Given the description of an element on the screen output the (x, y) to click on. 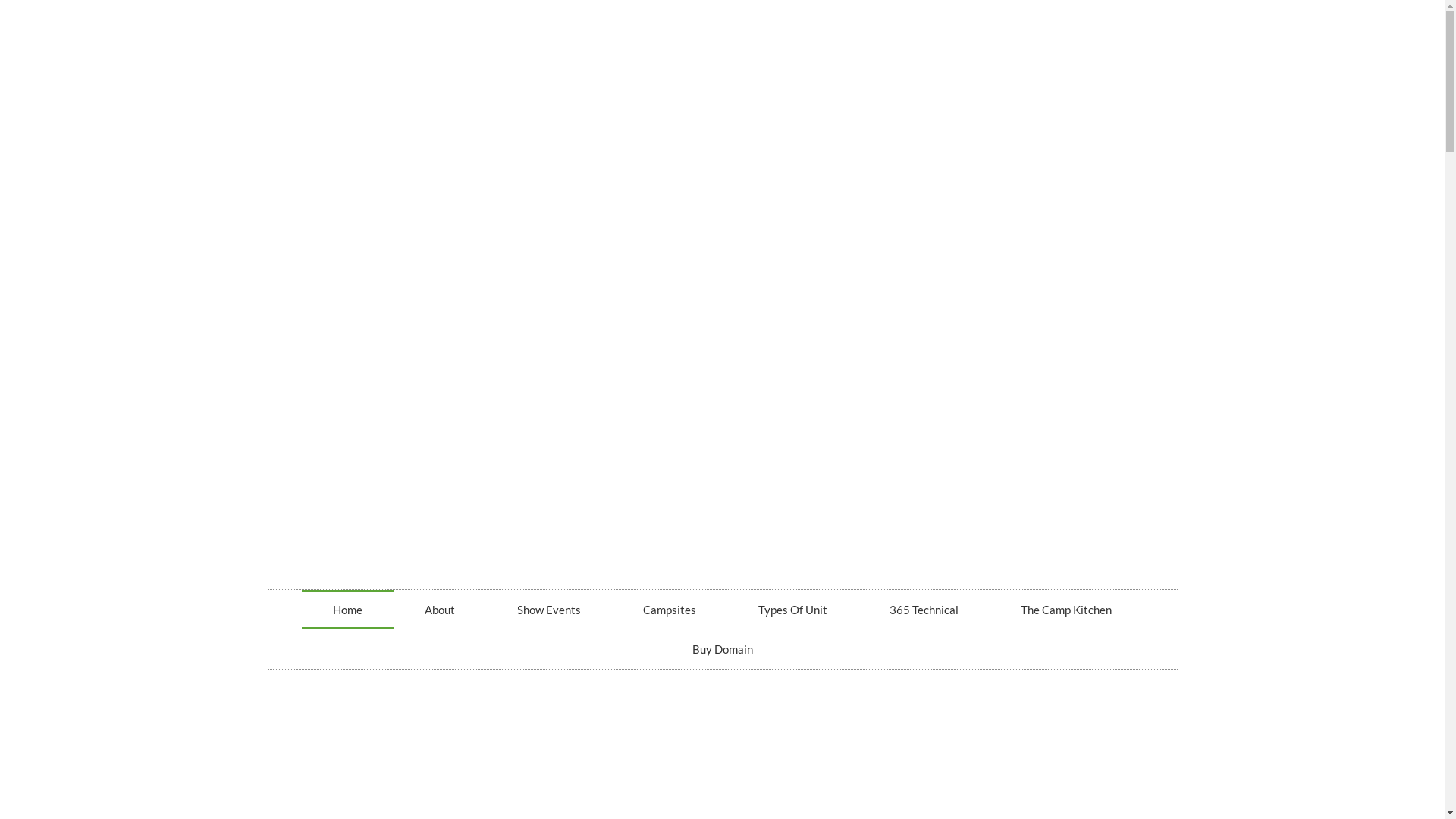
Campsites Element type: text (669, 609)
Show Events Element type: text (548, 609)
The Camp Kitchen Element type: text (1065, 609)
Buy Domain Element type: text (722, 648)
365 Technical Element type: text (923, 609)
About Element type: text (439, 609)
Types Of Unit Element type: text (792, 609)
Home Element type: text (347, 609)
